Given the description of an element on the screen output the (x, y) to click on. 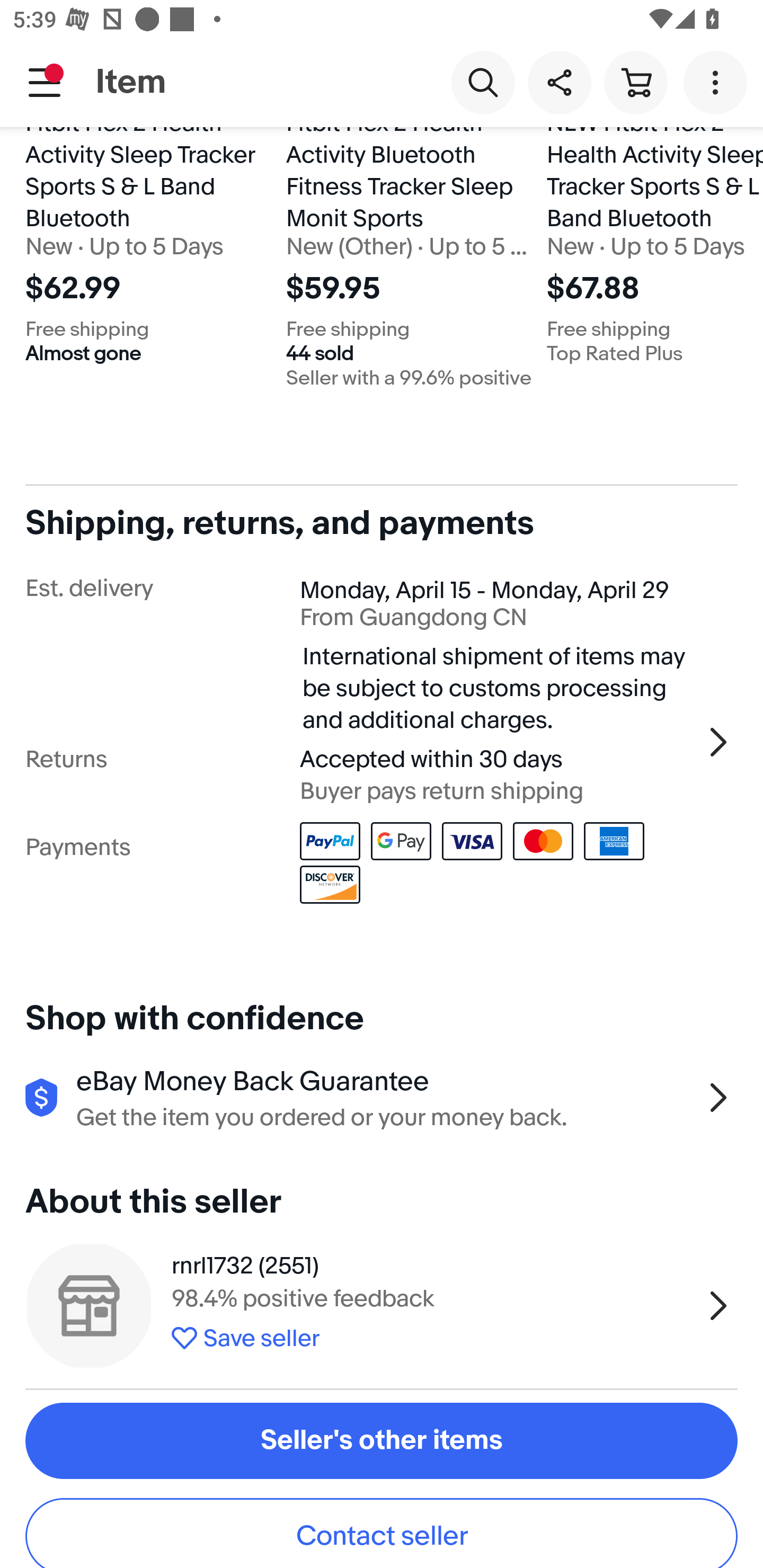
Main navigation, notification is pending, open (44, 82)
Search (482, 81)
Share this item (559, 81)
Cart button shopping cart (635, 81)
More options (718, 81)
Save seller (431, 1334)
Seller's other items (381, 1440)
Contact seller (381, 1532)
